Given the description of an element on the screen output the (x, y) to click on. 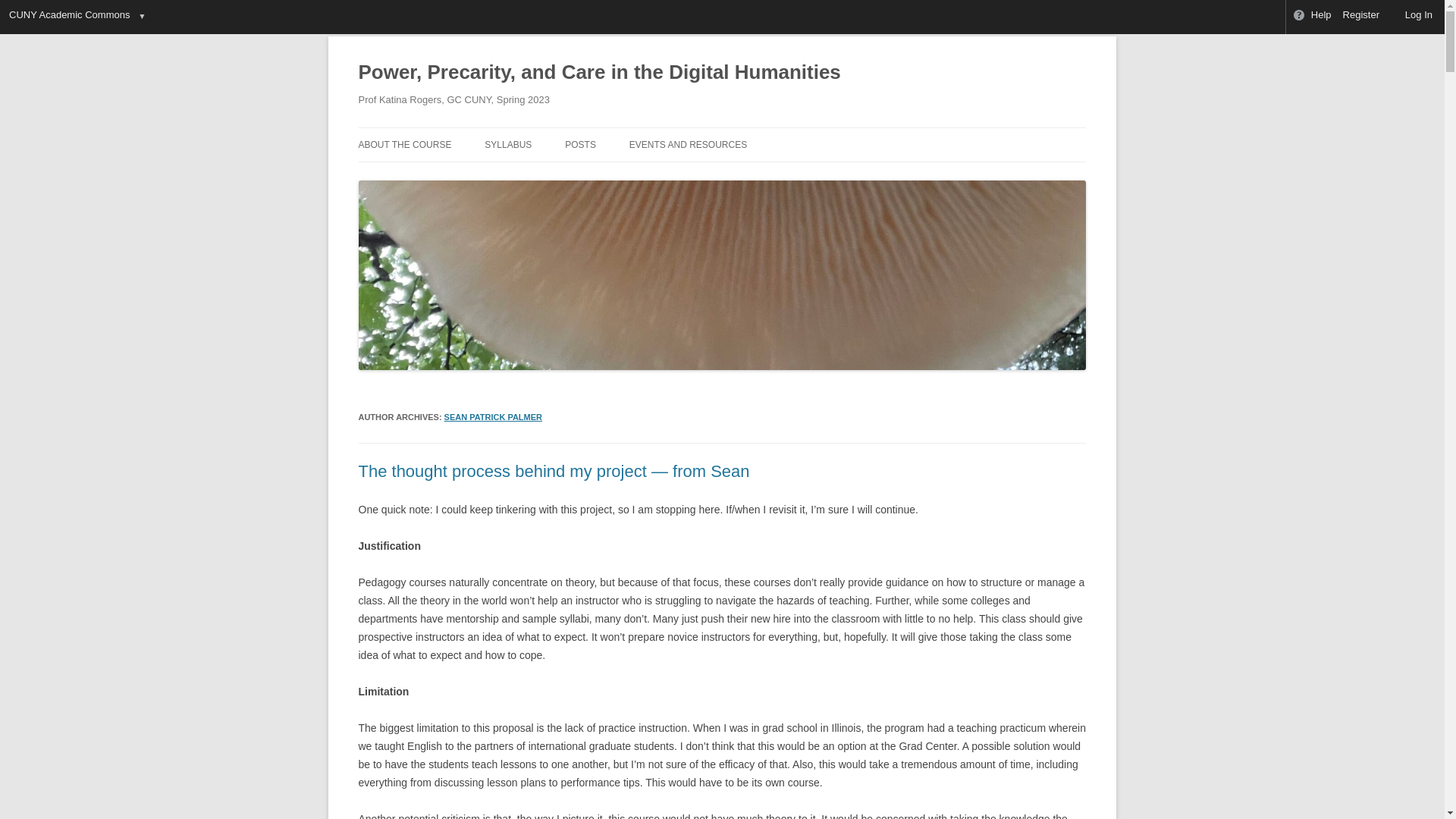
SYLLABUS (507, 144)
Power, Precarity, and Care in the Digital Humanities (599, 72)
CUNY Academic Commons (68, 17)
EVENTS AND RESOURCES (687, 144)
Register (1362, 17)
Log In (1412, 17)
ABOUT THE COURSE (404, 144)
Help (1311, 17)
SEAN PATRICK PALMER (492, 416)
POSTS (579, 144)
